Given the description of an element on the screen output the (x, y) to click on. 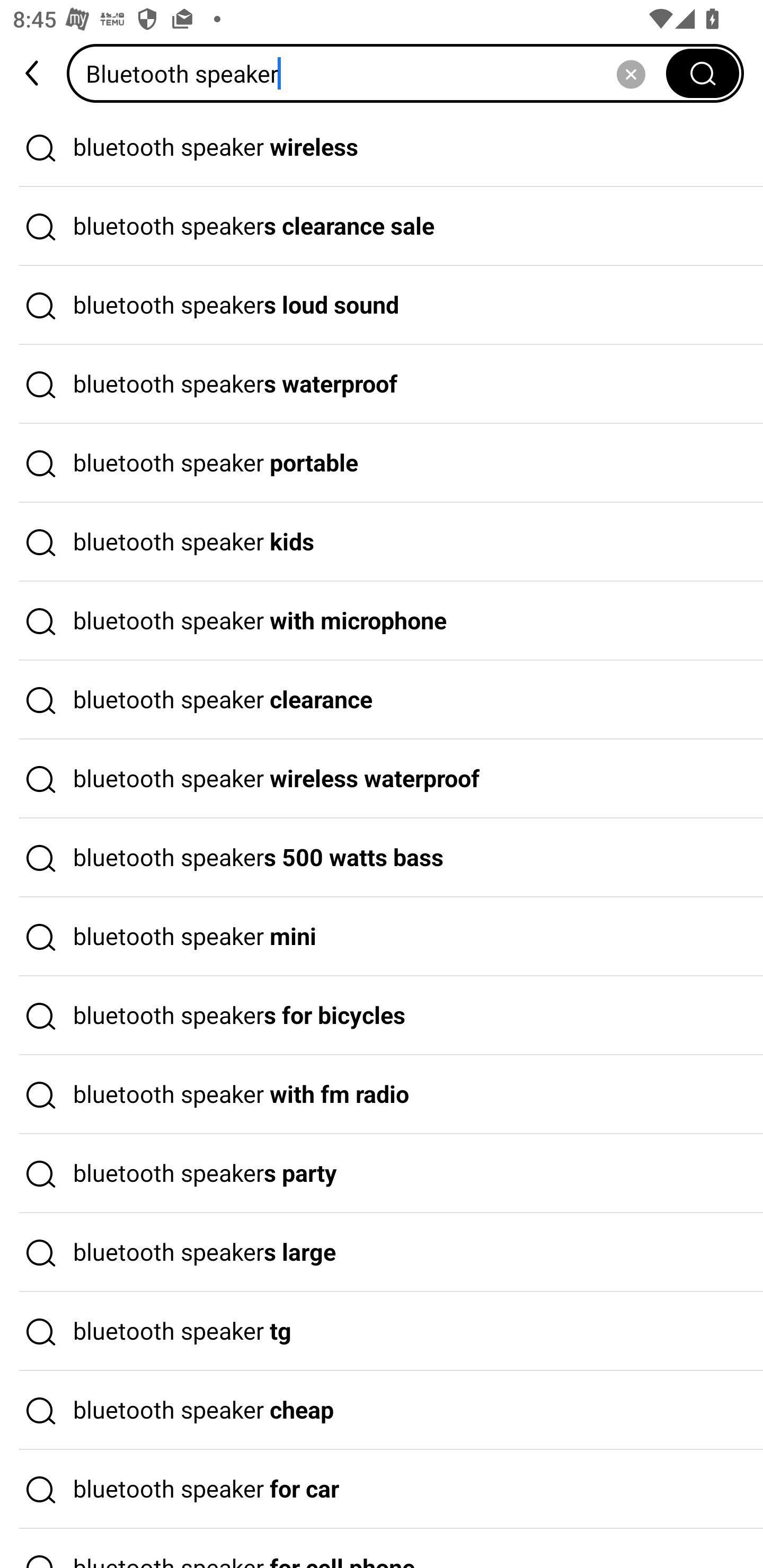
back (33, 72)
Bluetooth speaker (372, 73)
Delete search history (630, 73)
bluetooth speaker wireless (381, 147)
bluetooth speakers clearance sale (381, 226)
bluetooth speakers loud sound (381, 305)
bluetooth speakers waterproof (381, 383)
bluetooth speaker portable (381, 463)
bluetooth speaker kids (381, 542)
bluetooth speaker with microphone (381, 620)
bluetooth speaker clearance (381, 700)
bluetooth speaker wireless waterproof (381, 779)
bluetooth speakers 500 watts bass (381, 857)
bluetooth speaker mini (381, 936)
bluetooth speakers for bicycles (381, 1015)
bluetooth speaker with fm radio (381, 1094)
bluetooth speakers party (381, 1173)
bluetooth speakers large (381, 1252)
bluetooth speaker tg (381, 1331)
bluetooth speaker cheap (381, 1410)
bluetooth speaker for car (381, 1489)
